Given the description of an element on the screen output the (x, y) to click on. 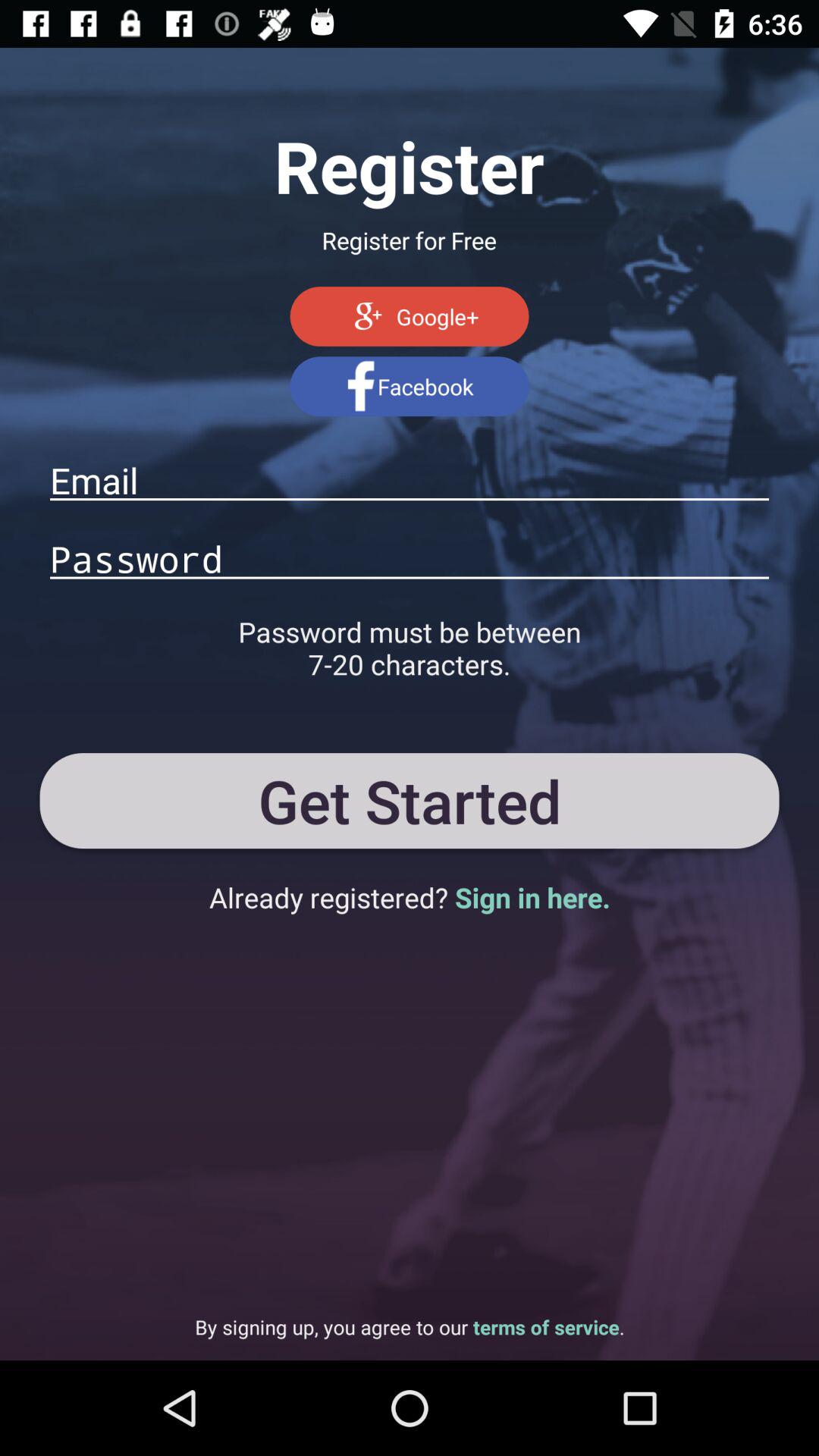
press button below get started (409, 897)
